Given the description of an element on the screen output the (x, y) to click on. 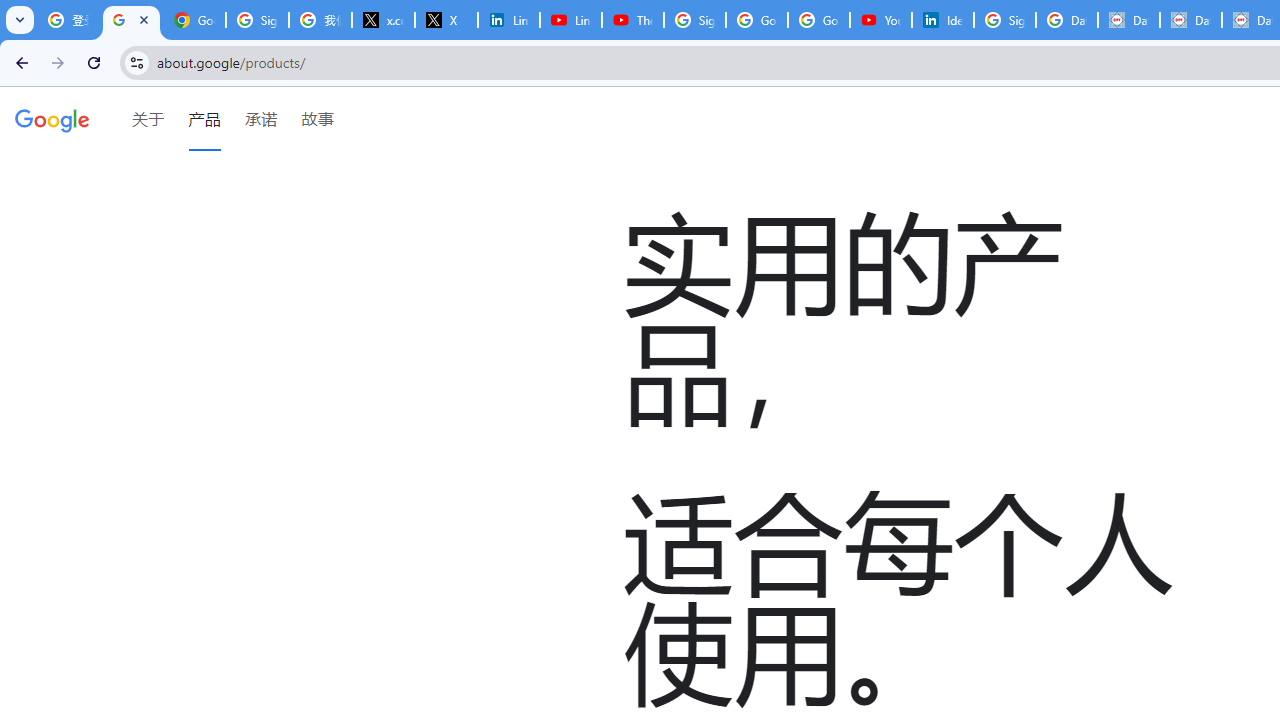
Sign in - Google Accounts (694, 20)
Sign in - Google Accounts (1004, 20)
Google (52, 119)
